Given the description of an element on the screen output the (x, y) to click on. 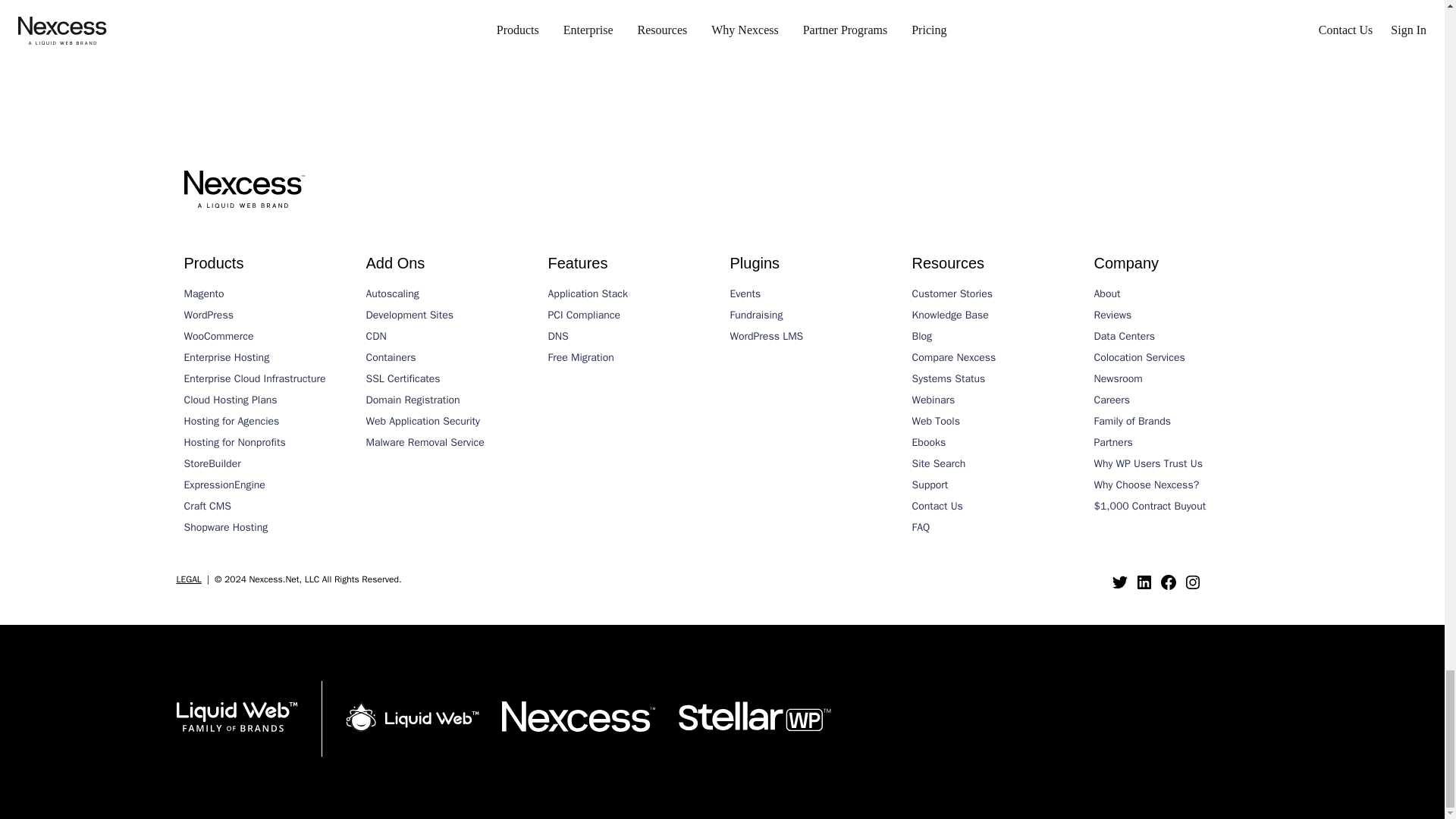
Drupal (317, 37)
Chris (279, 37)
